Given the description of an element on the screen output the (x, y) to click on. 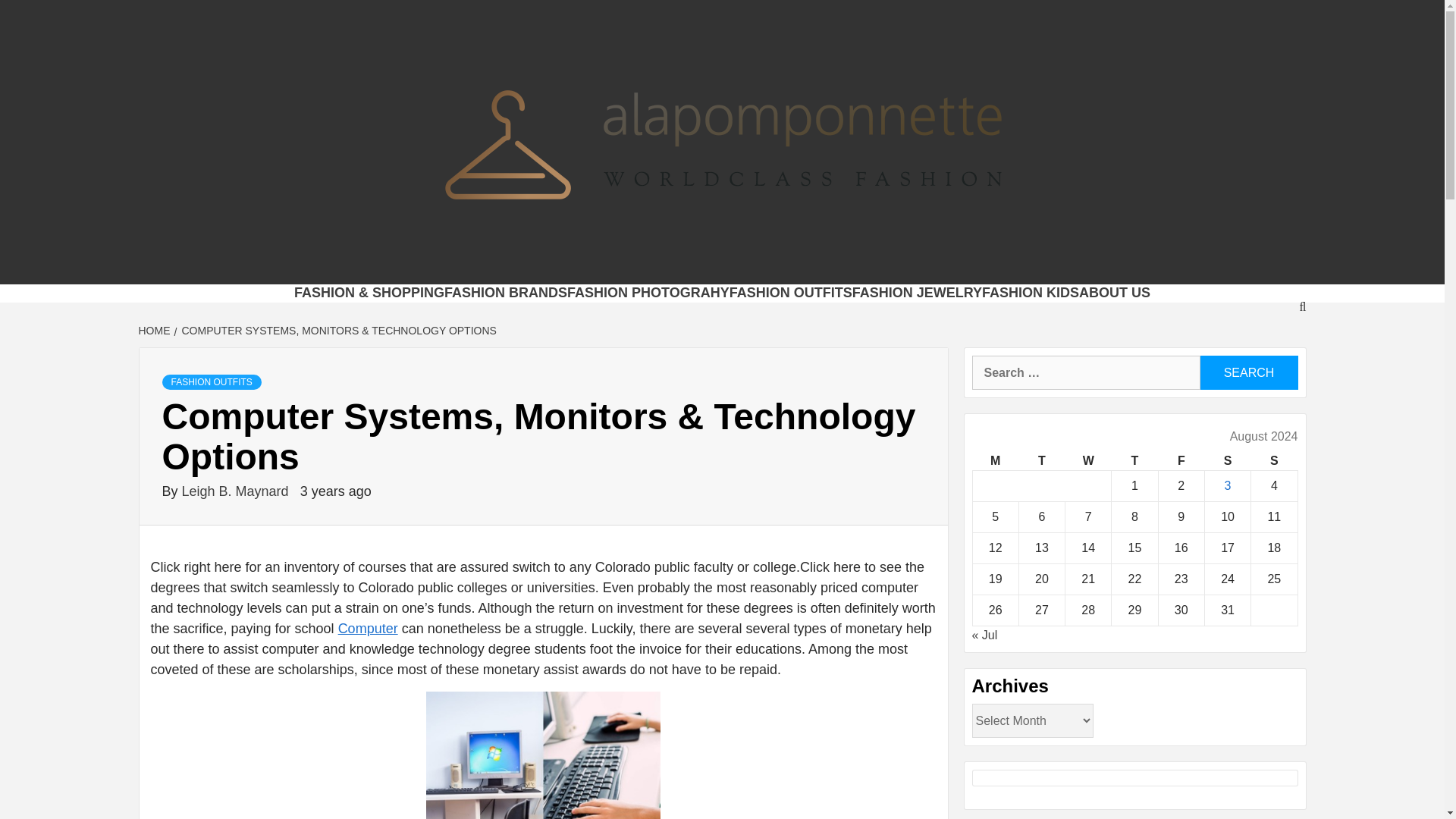
Thursday (1134, 461)
Tuesday (1040, 461)
Sunday (1273, 461)
ALAPOMPONNETTE (512, 264)
Monday (994, 461)
Saturday (1227, 461)
FASHION OUTFITS (211, 381)
FASHION BRANDS (505, 292)
Search (1248, 372)
Search (1248, 372)
Computer (367, 628)
Leigh B. Maynard (237, 491)
Wednesday (1088, 461)
FASHION OUTFITS (790, 292)
FASHION PHOTOGRAHY (648, 292)
